Given the description of an element on the screen output the (x, y) to click on. 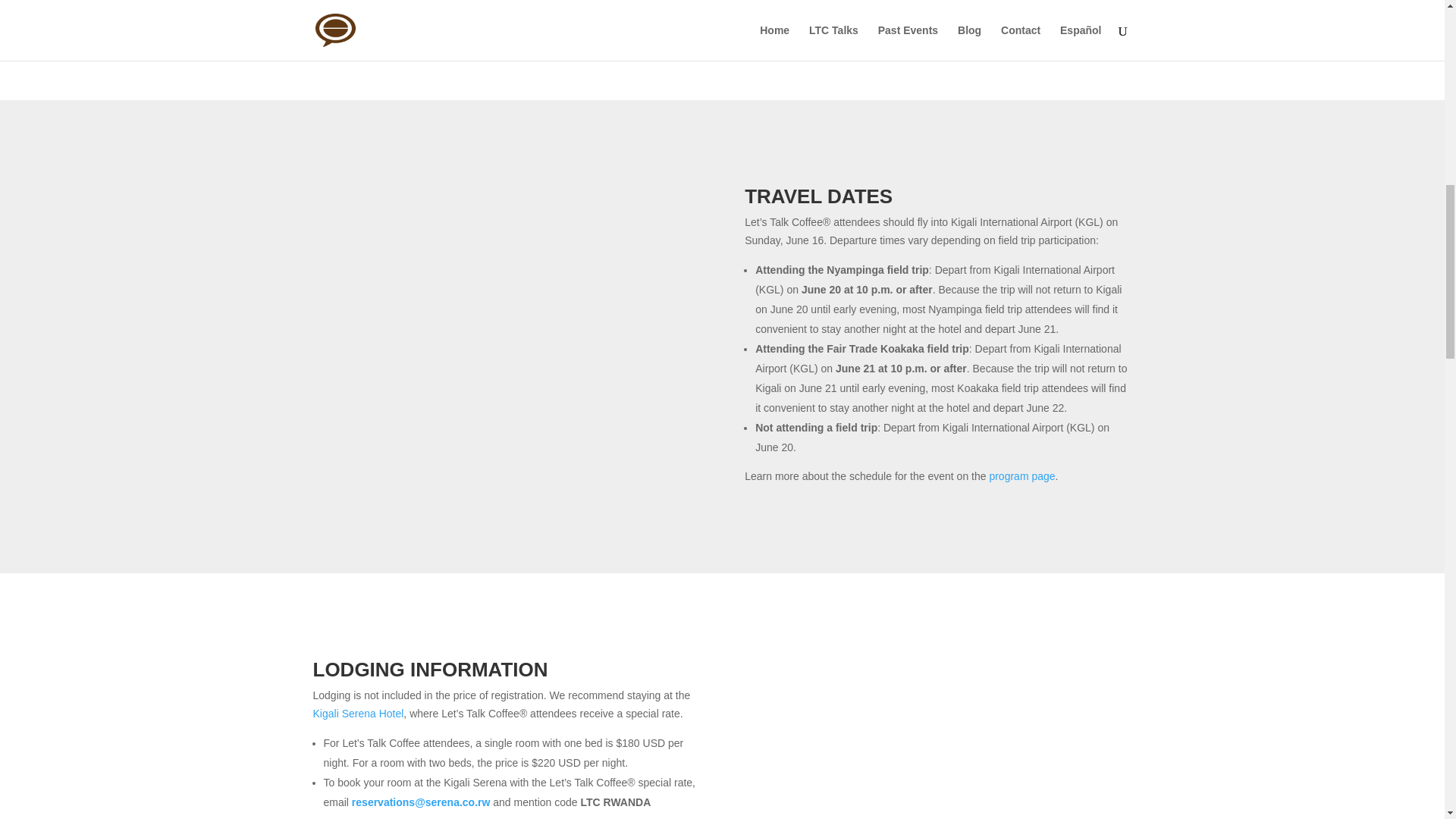
program page (1021, 476)
Kigali Serena Hotel (358, 713)
